Given the description of an element on the screen output the (x, y) to click on. 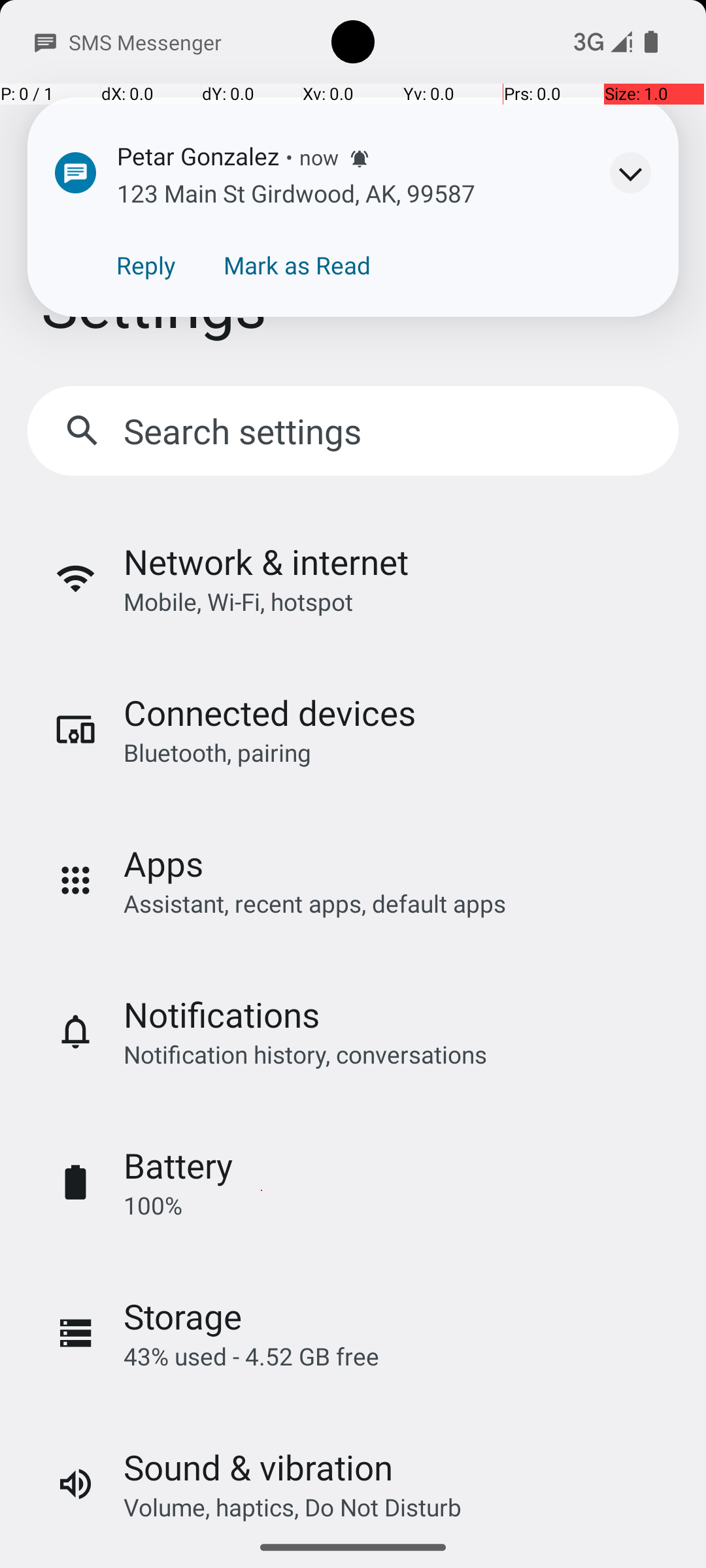
Profile picture, double tap to open Google Account Element type: android.widget.ImageView (623, 220)
Search settings Element type: android.widget.TextView (245, 430)
Network & internet Element type: android.widget.TextView (265, 561)
Mobile, Wi‑Fi, hotspot Element type: android.widget.TextView (238, 601)
Connected devices Element type: android.widget.TextView (269, 712)
Bluetooth, pairing Element type: android.widget.TextView (217, 751)
Assistant, recent apps, default apps Element type: android.widget.TextView (314, 902)
Notification history, conversations Element type: android.widget.TextView (305, 1053)
Battery Element type: android.widget.TextView (178, 1165)
100% Element type: android.widget.TextView (152, 1204)
43% used - 4.52 GB free Element type: android.widget.TextView (251, 1355)
Volume, haptics, Do Not Disturb Element type: android.widget.TextView (292, 1506)
Whispers of the Past by Elias is playing from Retro Music Element type: android.view.ViewGroup (352, 241)
This phone Element type: android.widget.LinearLayout (584, 125)
Whispers of the Past Element type: android.widget.TextView (181, 237)
Elias Element type: android.widget.TextView (79, 273)
Pause Element type: android.widget.ImageButton (609, 248)
Previous track Element type: android.widget.ImageButton (68, 358)
00:00 of 04:40 Element type: android.widget.SeekBar (270, 358)
Next track Element type: android.widget.ImageButton (472, 358)
Cycle repeat mode Element type: android.widget.ImageButton (554, 358)
Toggle shuffle mode Element type: android.widget.ImageButton (637, 358)
123 Main St Girdwood, AK, 99587 Element type: android.widget.TextView (296, 192)
Expand Element type: android.widget.Button (630, 172)
Reply Element type: android.widget.Button (146, 265)
Mark as Read Element type: android.widget.Button (296, 265)
Media device Element type: android.widget.LinearLayout (571, 131)
Petar Gonzalez Element type: android.widget.TextView (198, 155)
• Element type: android.widget.TextView (288, 157)
now Element type: android.widget.TextView (318, 157)
Alerted Element type: android.widget.ImageView (359, 158)
